Given the description of an element on the screen output the (x, y) to click on. 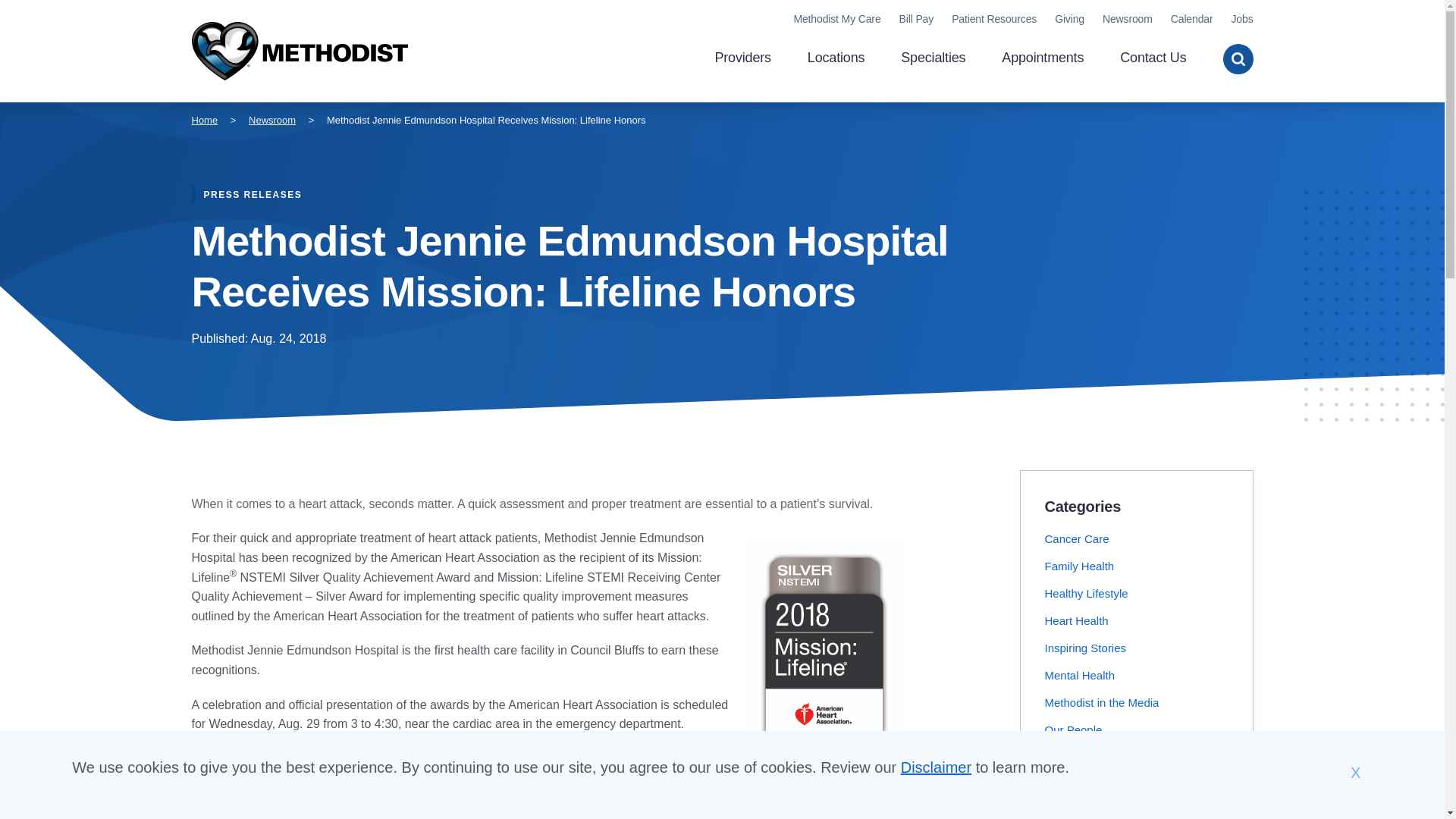
Bill Pay (916, 19)
Providers (742, 59)
Healthy Lifestyle (1086, 593)
Press Releases (1084, 757)
Our People (1073, 729)
Cancer Care (1077, 538)
Methodist in the Media (1101, 702)
Home (298, 51)
Locations (836, 59)
Today's Medicine (1088, 811)
Patient Resources (994, 19)
Methodist Health System (298, 51)
Jobs (1241, 19)
Toggle Site Search (1237, 59)
Giving (1069, 19)
